Given the description of an element on the screen output the (x, y) to click on. 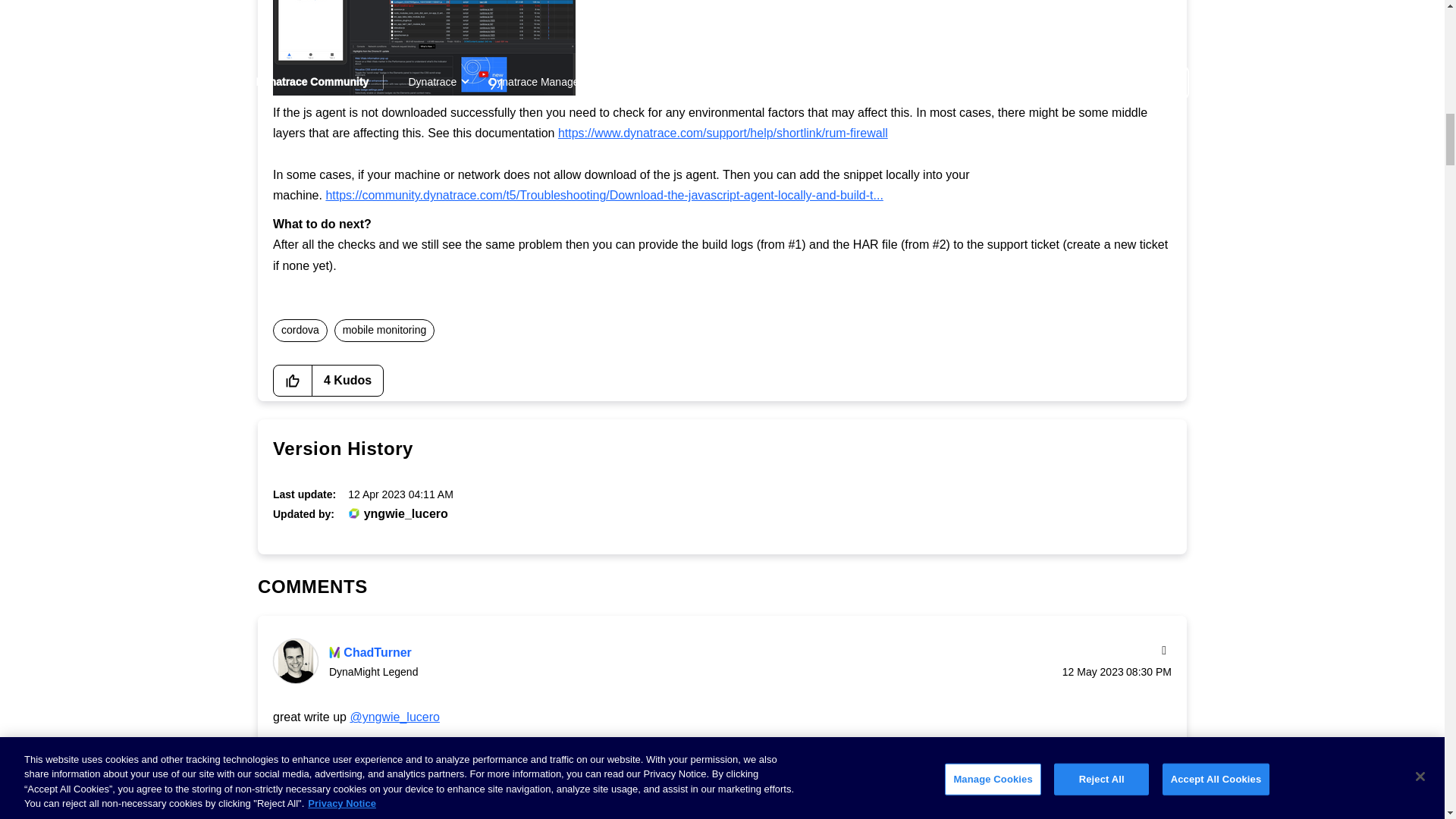
Dynatrace Advisor (353, 512)
ChadTurner (295, 660)
Click here to give kudos to this post. (293, 380)
Click here to see who gave kudos to this post. (347, 380)
Screenshot 2023-01-11 at 10.43.48 am.png (424, 47)
